Given the description of an element on the screen output the (x, y) to click on. 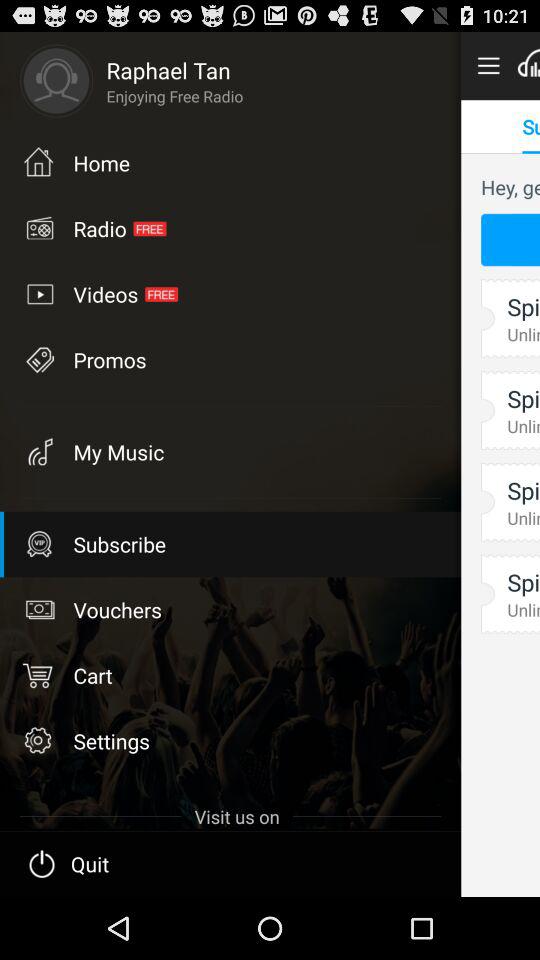
click on the video icon (38, 293)
click on the music icon (38, 452)
go to the icon next to promos (38, 452)
click on cart icon on left side of cart text (38, 674)
